Given the description of an element on the screen output the (x, y) to click on. 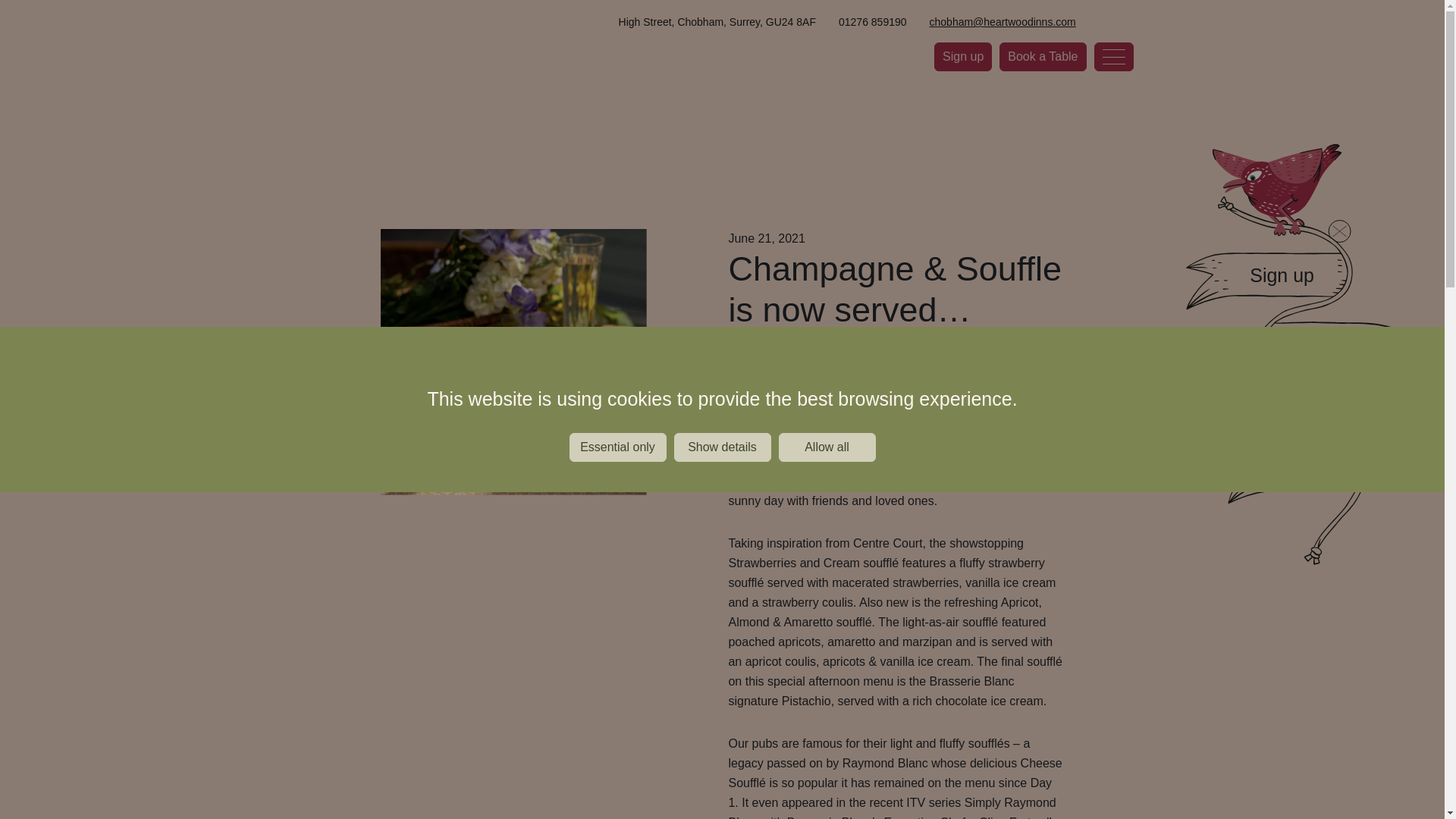
Show details (721, 502)
Essential only (617, 513)
Sign up (962, 56)
Book a Table (1042, 56)
Allow all (826, 488)
